Given the description of an element on the screen output the (x, y) to click on. 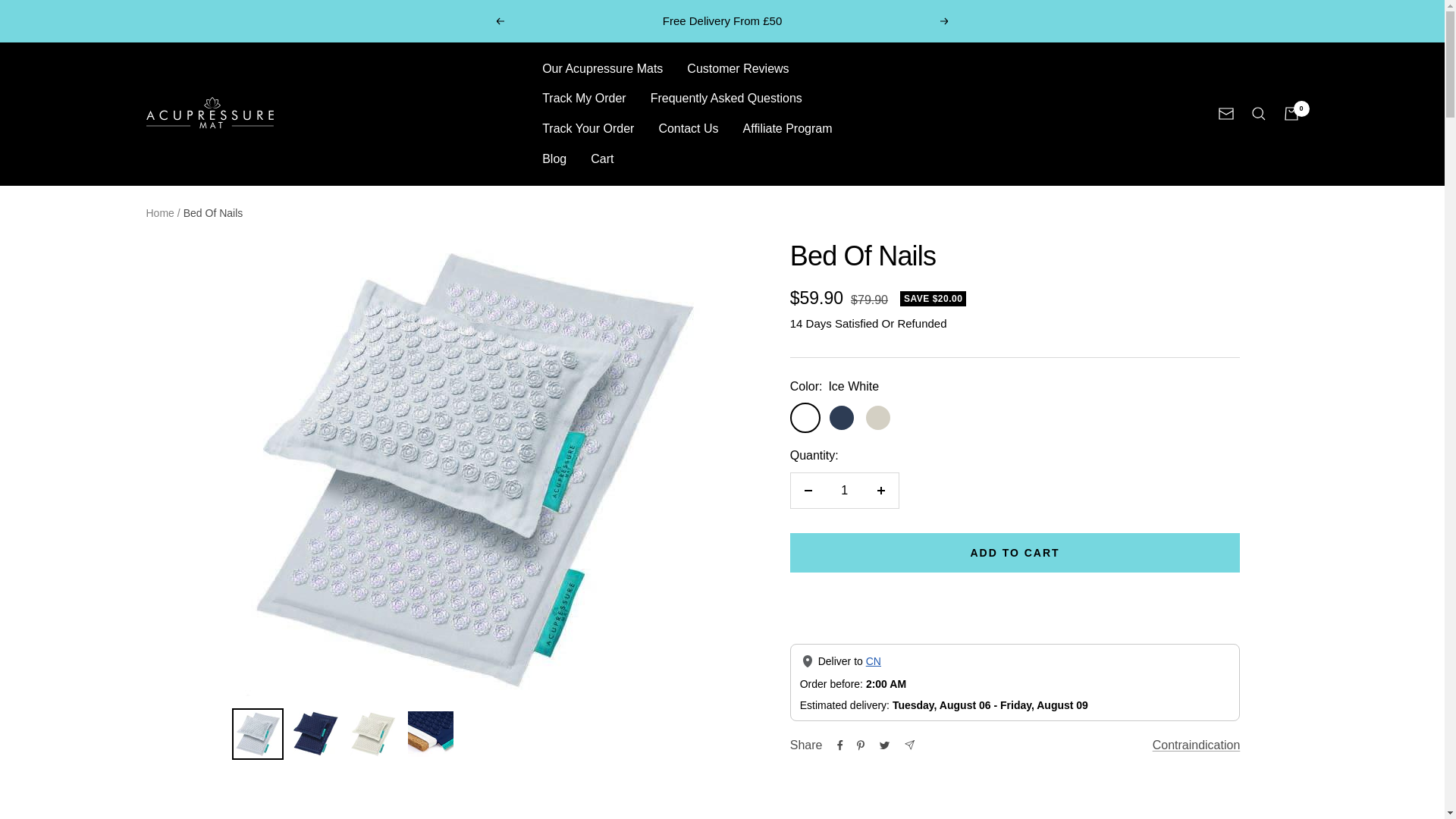
Track My Order (583, 97)
Previous (499, 21)
Track Your Order (587, 128)
1 (844, 490)
Decrease quantity (807, 490)
Acupressure Mat (211, 113)
ADD TO CART (1015, 552)
Increase quantity (880, 490)
Blog (553, 158)
Frequently Asked Questions (726, 97)
0 (1291, 113)
Affiliate Program (787, 128)
